Given the description of an element on the screen output the (x, y) to click on. 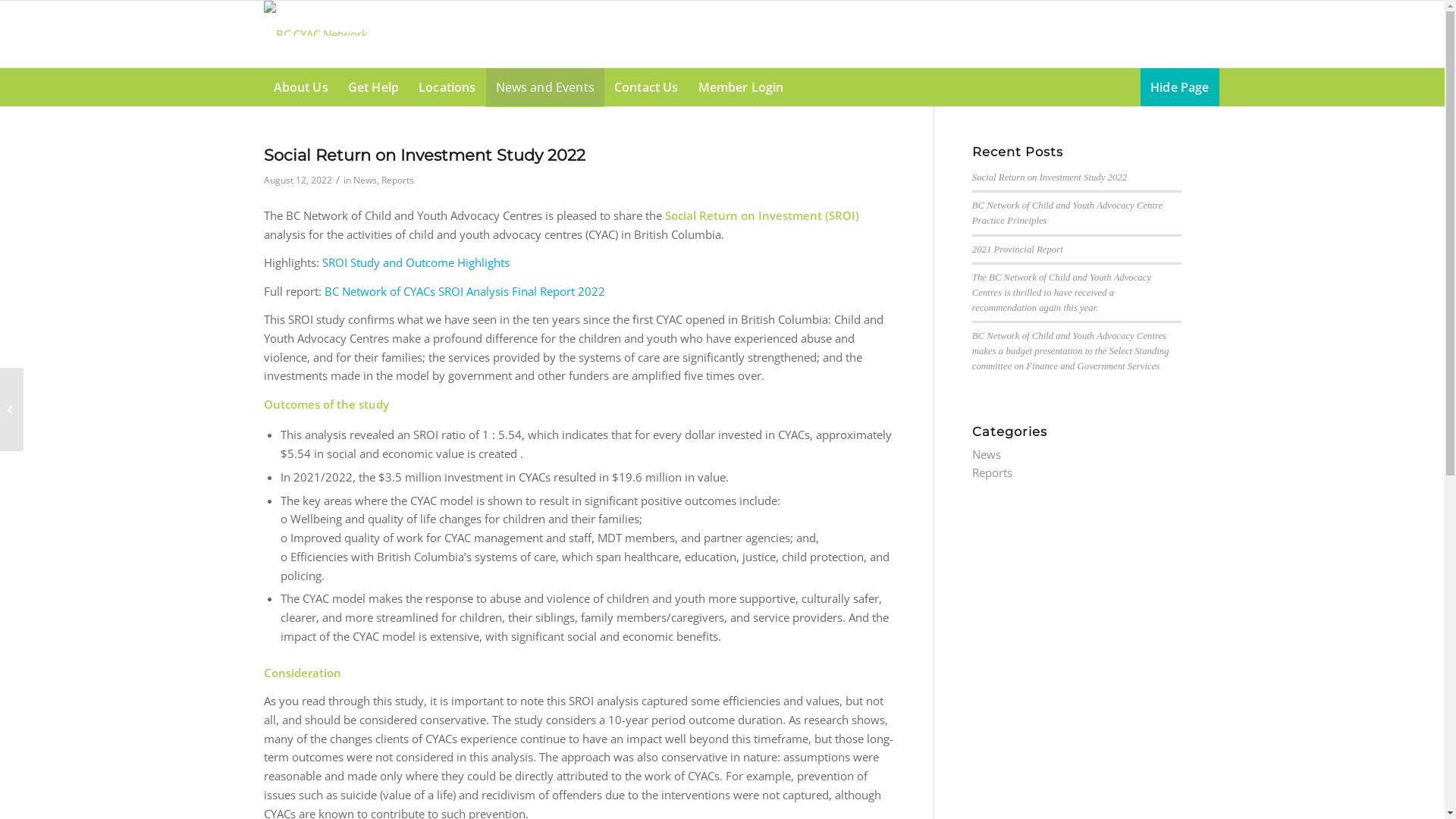
SROI Study and Outcome Highlights Element type: text (414, 261)
Locations Element type: text (446, 87)
News Element type: text (986, 453)
News Element type: text (364, 179)
Contact Us Element type: text (646, 87)
About Us Element type: text (300, 87)
Reports Element type: text (992, 472)
News and Events Element type: text (545, 87)
Social Return on Investment Study 2022 Element type: text (1049, 177)
2021 Provincial Report Element type: text (1017, 249)
Hide Page Element type: text (1179, 87)
Reports Element type: text (396, 179)
Get Help Element type: text (373, 87)
Member Login Element type: text (740, 87)
BC Network of CYACs SROI Analysis Final Report 2022 Element type: text (464, 290)
